Given the description of an element on the screen output the (x, y) to click on. 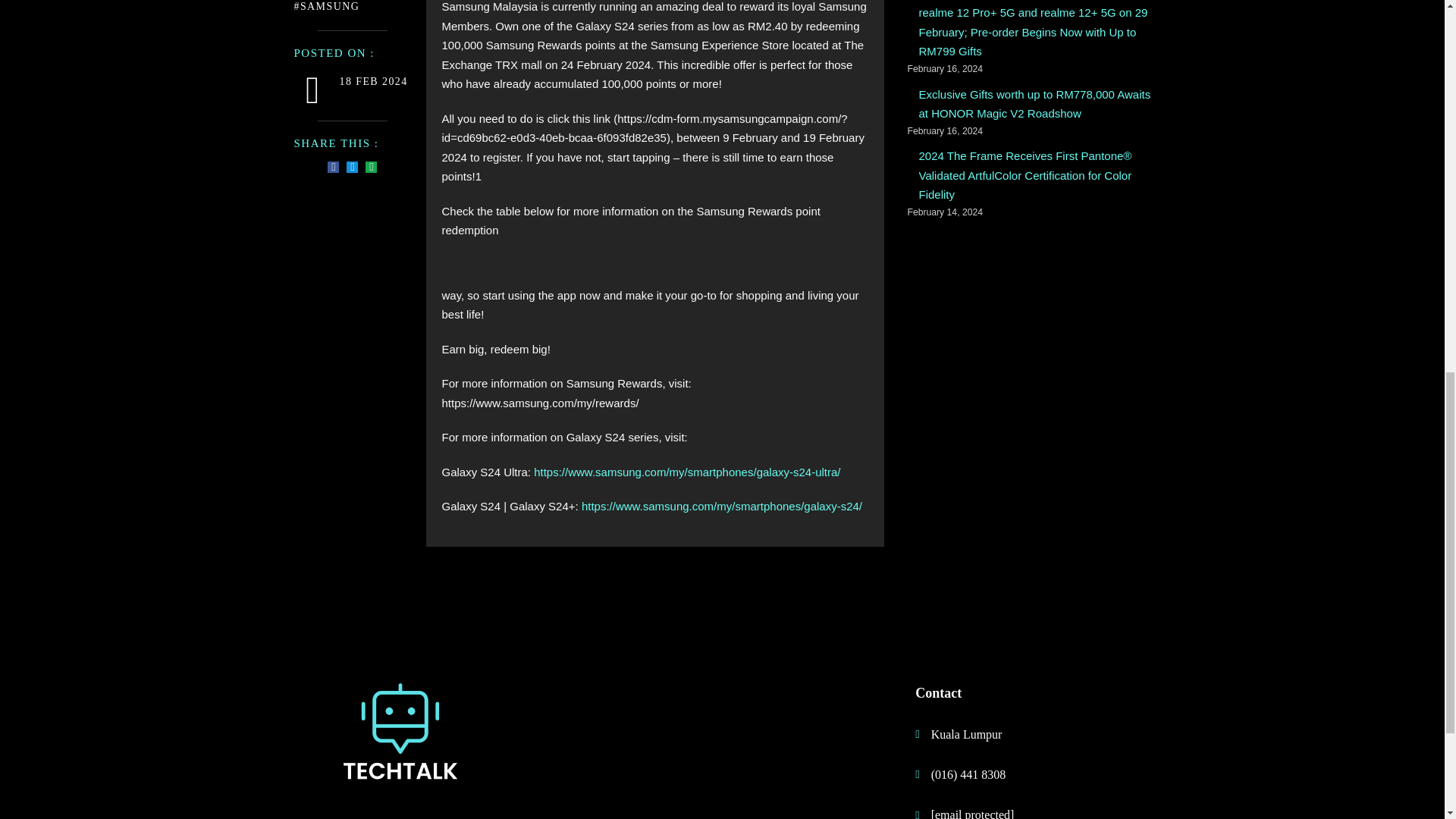
Kuala Lumpur (1017, 733)
